Given the description of an element on the screen output the (x, y) to click on. 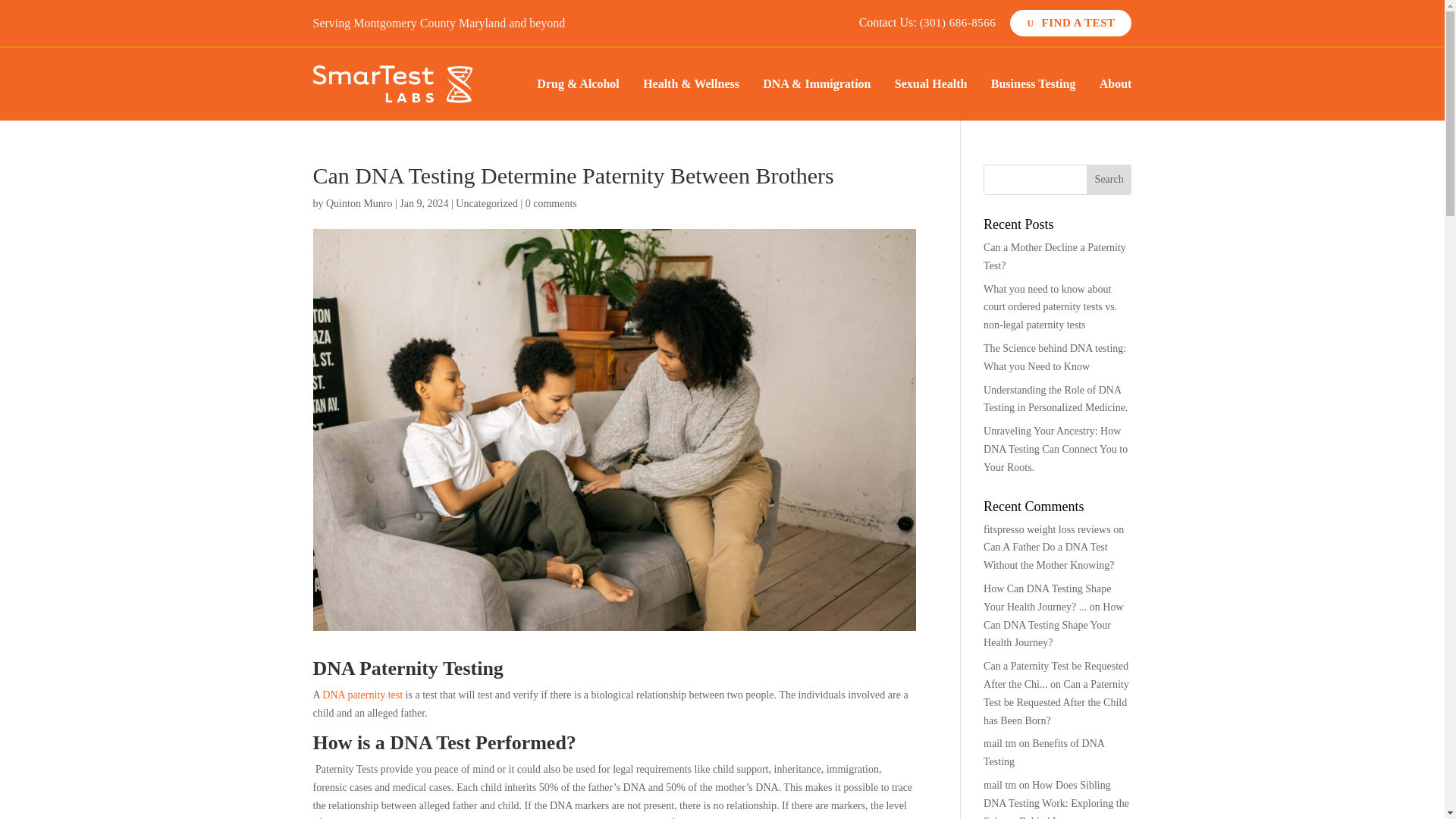
Search (1109, 179)
Site-logo-large (392, 84)
FIND A TEST (1070, 22)
About (1115, 87)
Sexual Health (931, 87)
Business Testing (1033, 87)
Posts by Quinton Munro (359, 203)
